Given the description of an element on the screen output the (x, y) to click on. 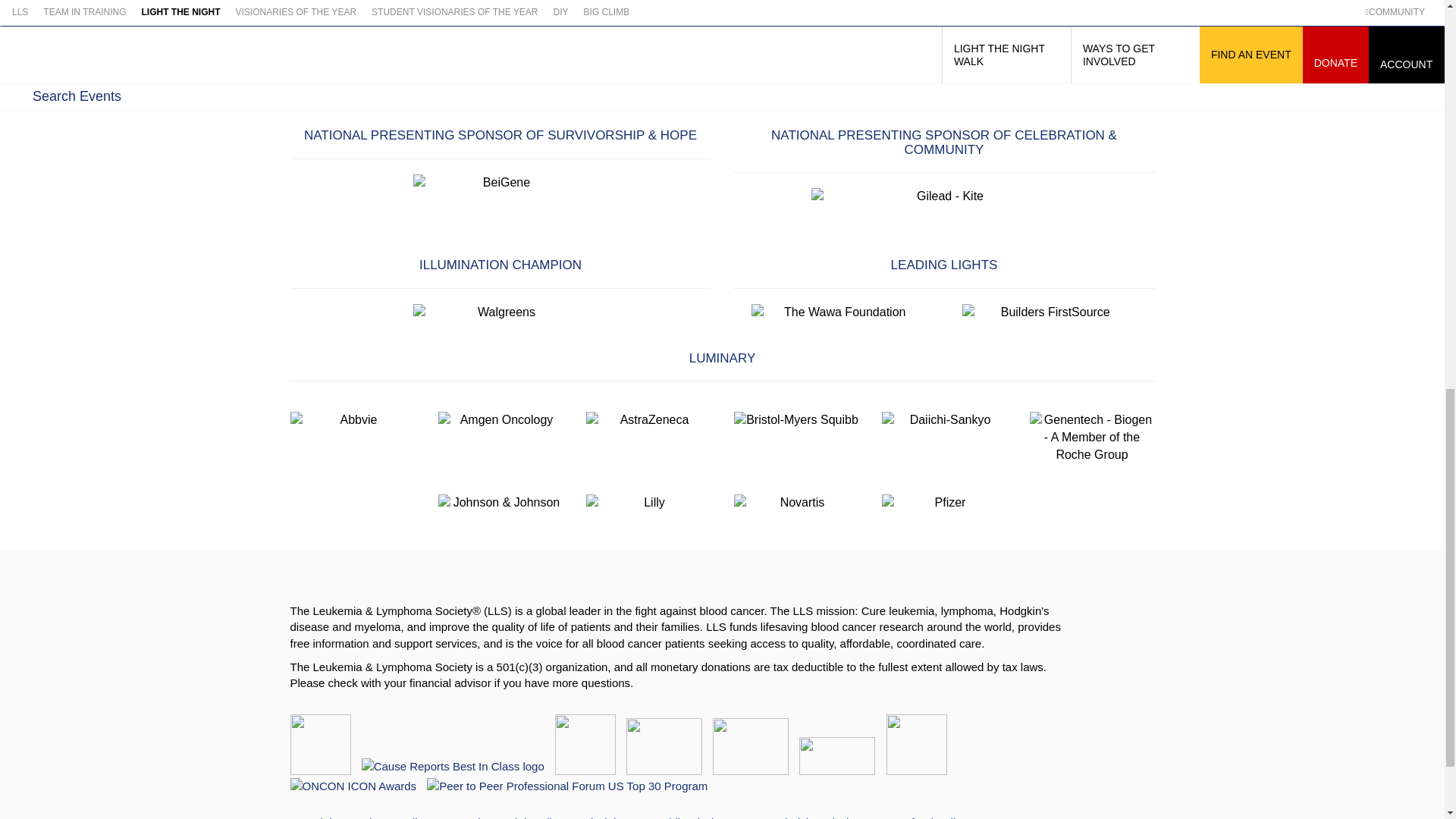
Walgreens (500, 312)
Abbvie (351, 420)
Amgen Oncology (500, 420)
AstraZeneca (647, 420)
Novartis (796, 502)
Wawa (838, 312)
Lilly (647, 502)
Pfizer (943, 502)
BeiGene (500, 182)
Bristol-Myers Squibb (796, 420)
